Given the description of an element on the screen output the (x, y) to click on. 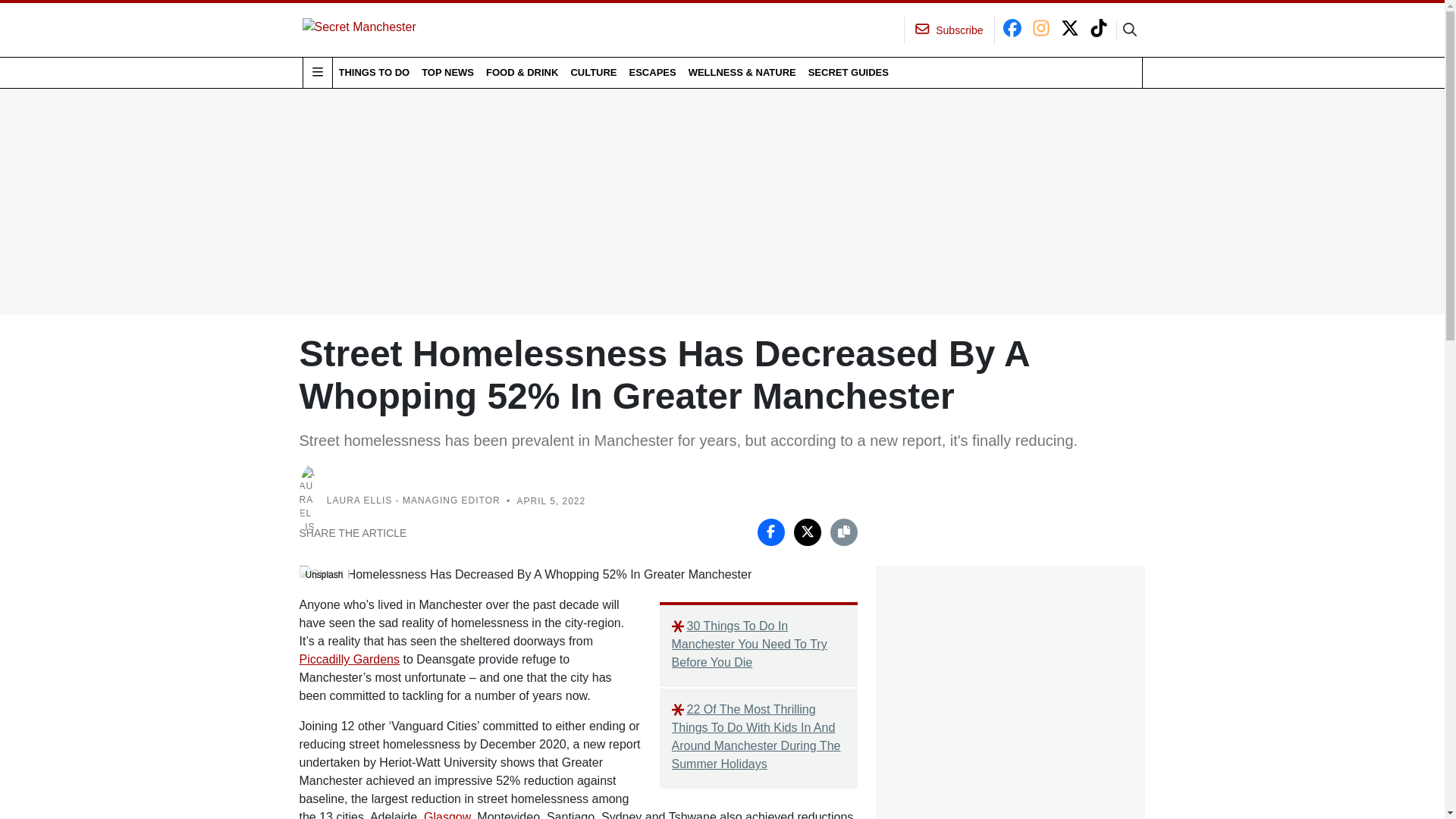
Piccadilly Gardens (348, 658)
30 Things To Do In Manchester You Need To Try Before You Die (758, 644)
CULTURE (592, 72)
TOP NEWS (448, 72)
THINGS TO DO (373, 72)
ESCAPES (652, 72)
Glasgow (446, 814)
LAURA ELLIS (358, 501)
SECRET GUIDES (848, 72)
